Given the description of an element on the screen output the (x, y) to click on. 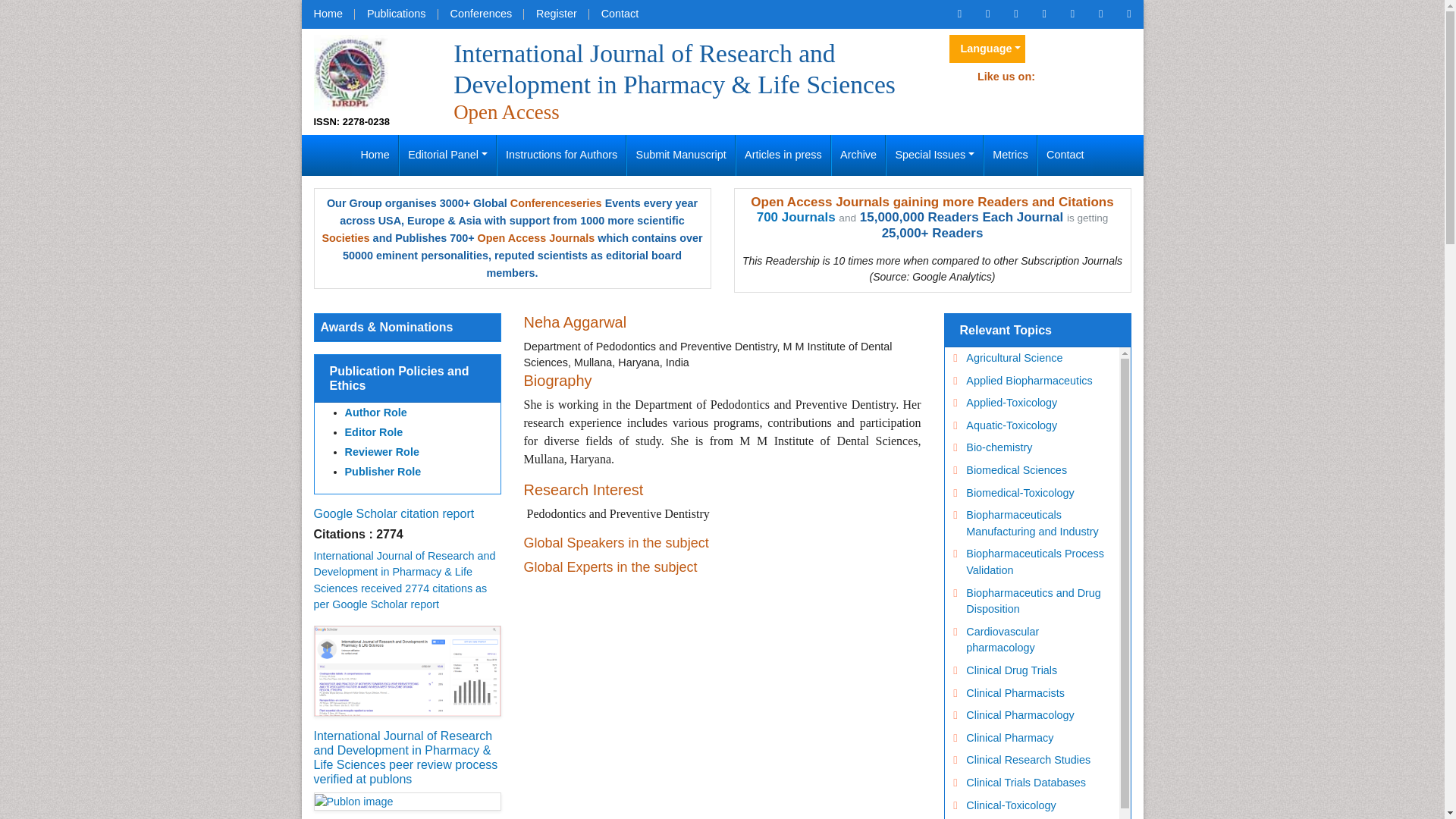
Publications (396, 14)
Archive (858, 155)
Submit Manuscript (681, 155)
Metrics (1010, 155)
Home (374, 155)
OMICS International Journals (396, 14)
Omics Twitter (1015, 14)
Click here (959, 14)
Language (987, 49)
Contact (619, 14)
